Given the description of an element on the screen output the (x, y) to click on. 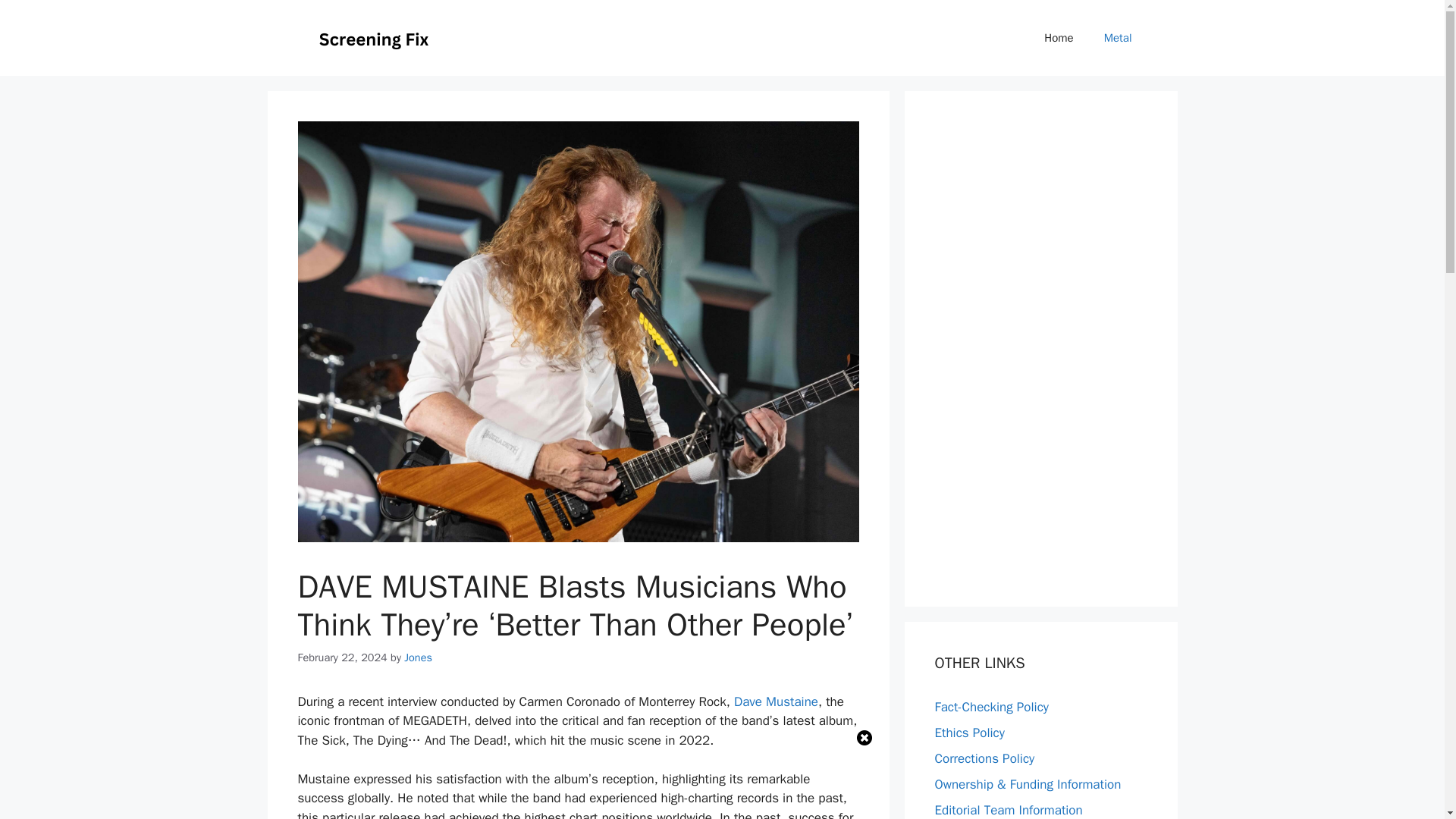
Corrections Policy (983, 758)
Home (1058, 37)
Ethics Policy (969, 732)
Jones (418, 657)
Advertisement (722, 776)
Editorial Team Information (1007, 810)
Metal (1118, 37)
Dave Mustaine (775, 701)
View all posts by Jones (418, 657)
Fact-Checking Policy (991, 706)
